Given the description of an element on the screen output the (x, y) to click on. 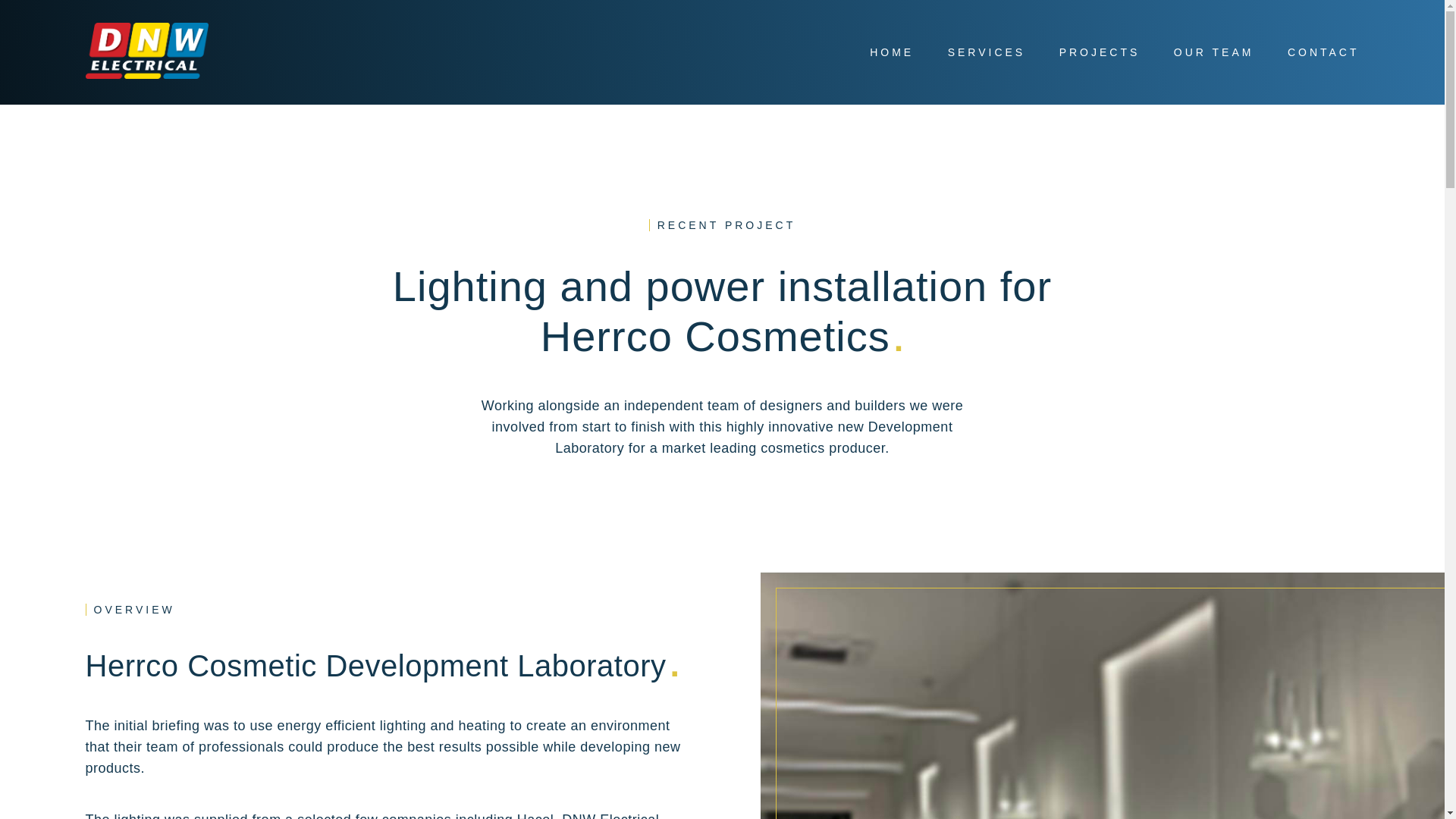
SERVICES (986, 51)
CONTACT (1323, 51)
HOME (891, 51)
PROJECTS (1099, 51)
OUR TEAM (1213, 51)
